Given the description of an element on the screen output the (x, y) to click on. 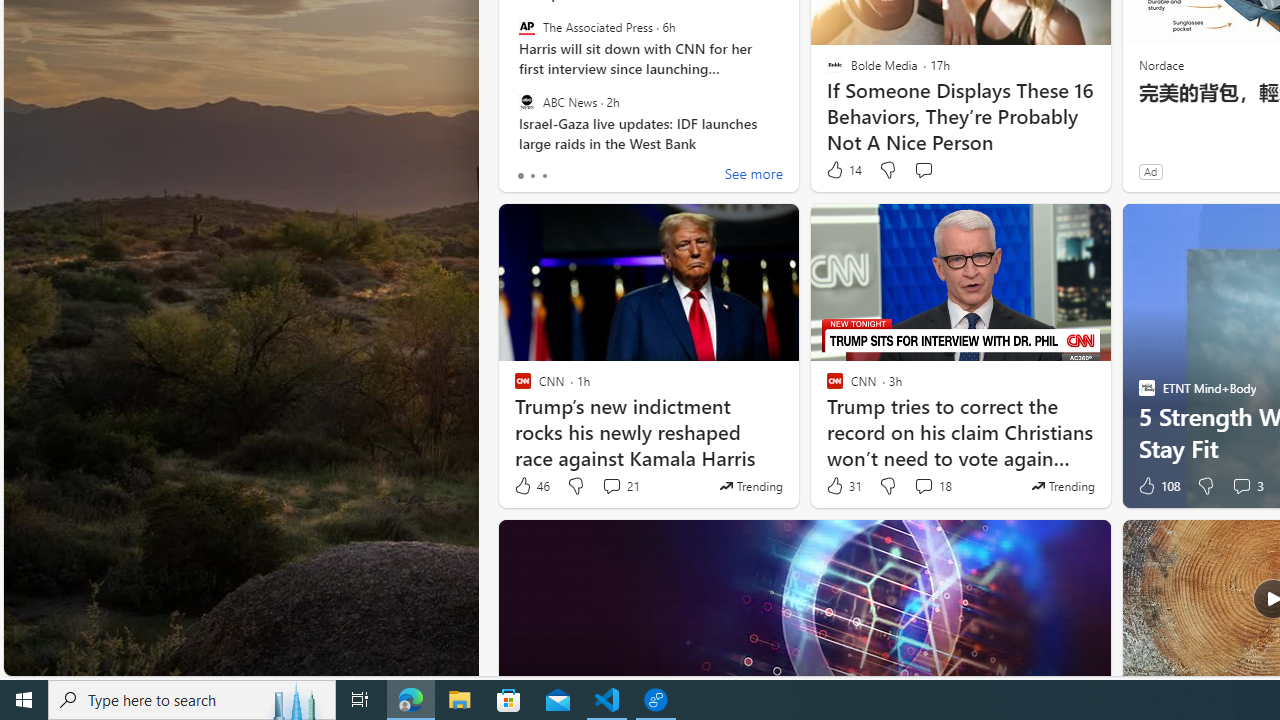
The Associated Press (526, 27)
tab-2 (543, 175)
46 Like (531, 485)
31 Like (843, 485)
View comments 3 Comment (1247, 485)
ABC News (526, 101)
View comments 21 Comment (619, 485)
View comments 21 Comment (611, 485)
